Given the description of an element on the screen output the (x, y) to click on. 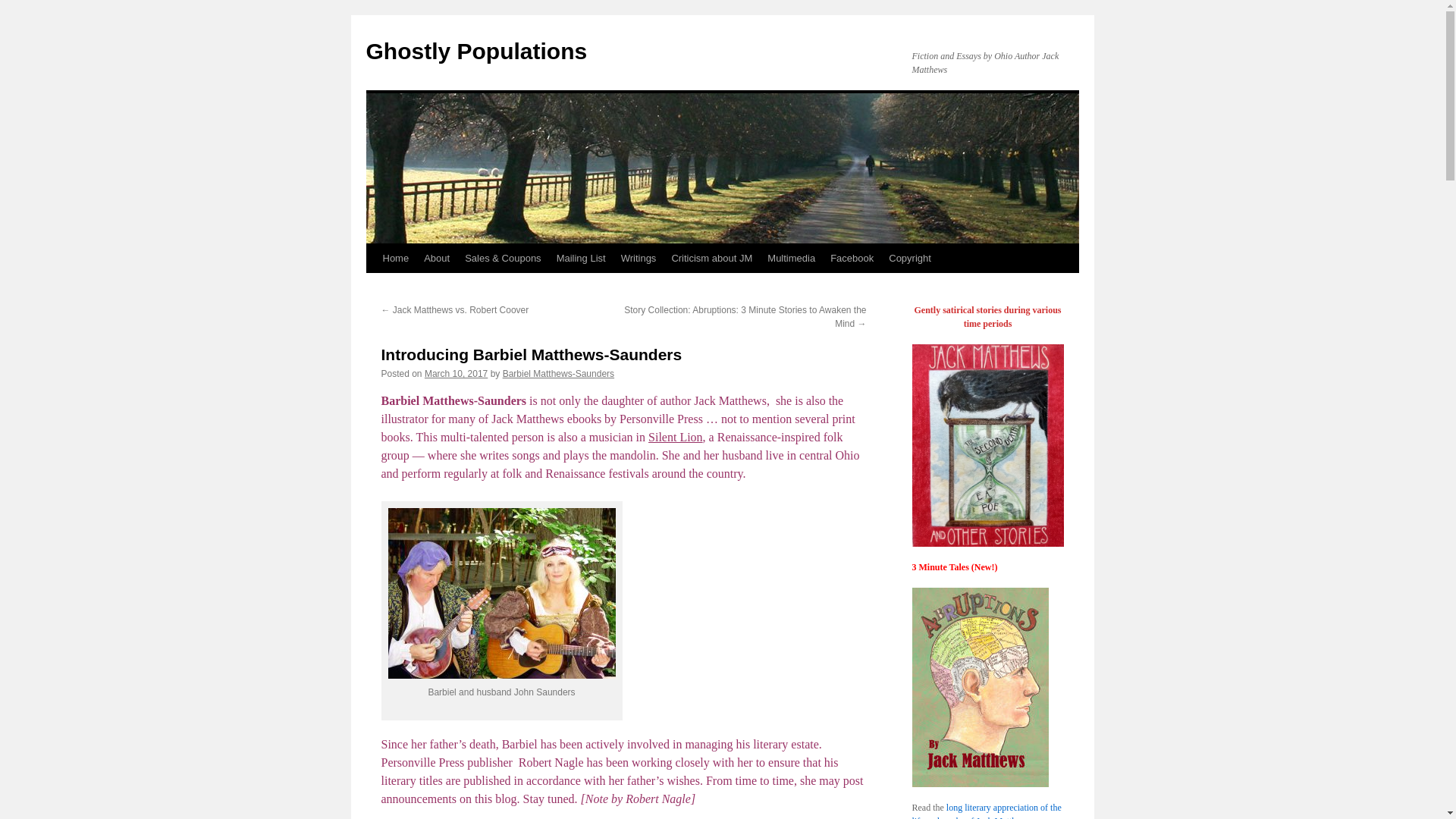
Facebook (851, 258)
About (436, 258)
March 10, 2017 (456, 373)
Writings (637, 258)
Copyright (909, 258)
Silent Lion (675, 436)
Mailing List (580, 258)
10:53 am (456, 373)
Ghostly Populations (475, 50)
View all posts by Barbiel Matthews-Saunders (558, 373)
Criticism about JM (711, 258)
Home (395, 258)
Barbiel Matthews-Saunders (558, 373)
Multimedia (791, 258)
